Given the description of an element on the screen output the (x, y) to click on. 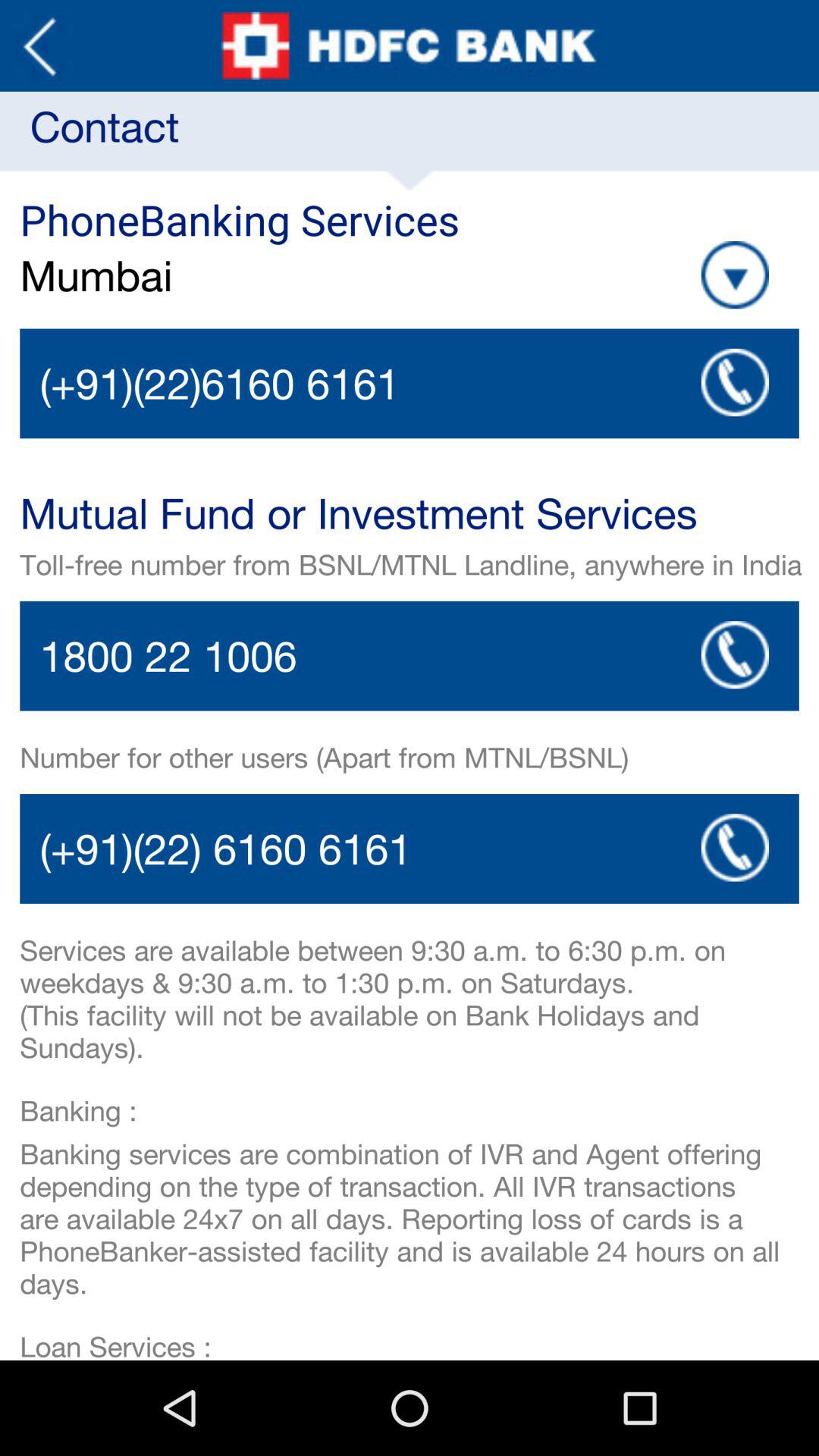
click icon above number for other item (734, 654)
